Given the description of an element on the screen output the (x, y) to click on. 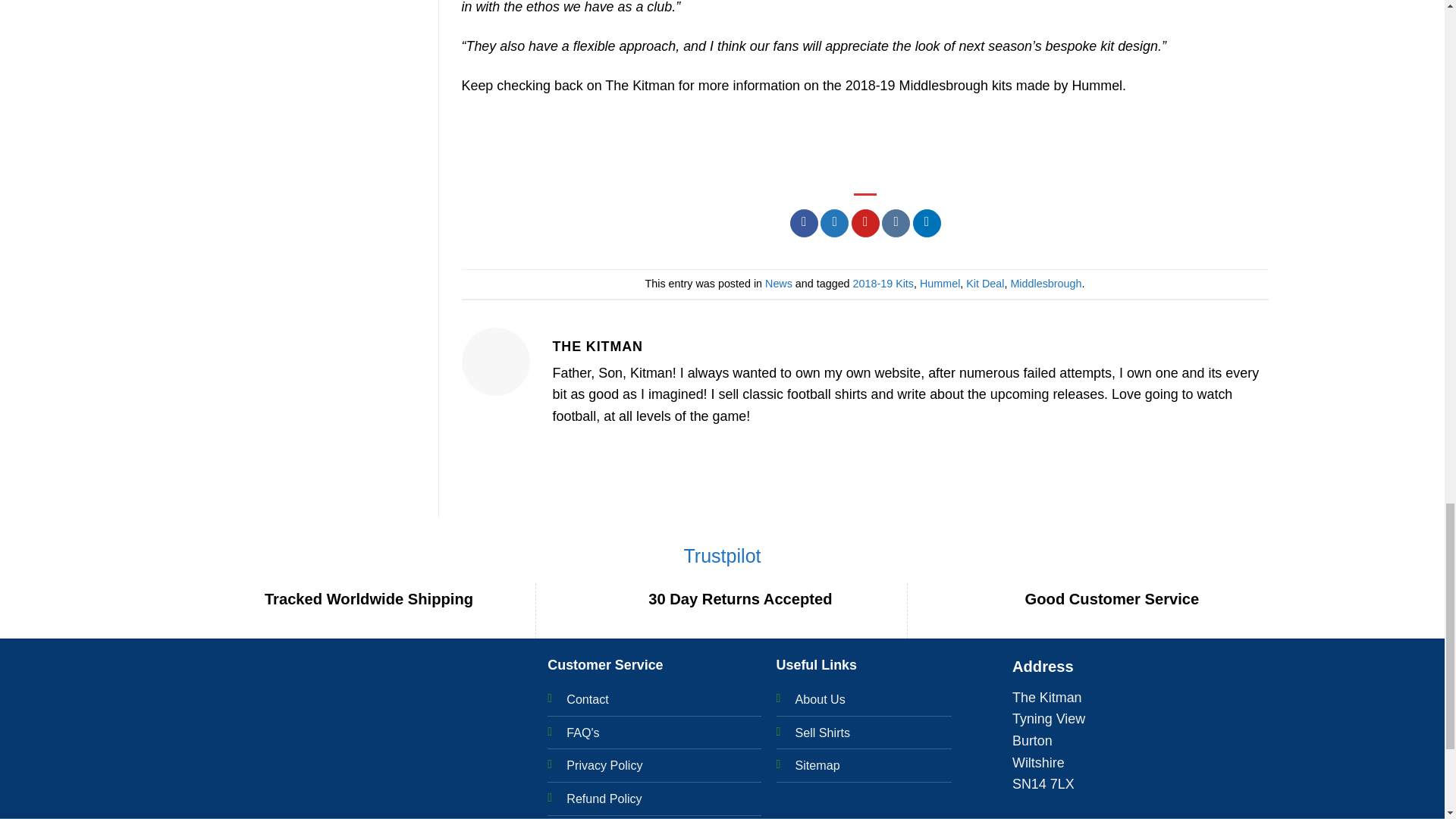
Share on Twitter (834, 223)
Share on LinkedIn (926, 223)
Pin on Pinterest (865, 223)
Share on VKontakte (896, 223)
Share on Facebook (804, 223)
